Given the description of an element on the screen output the (x, y) to click on. 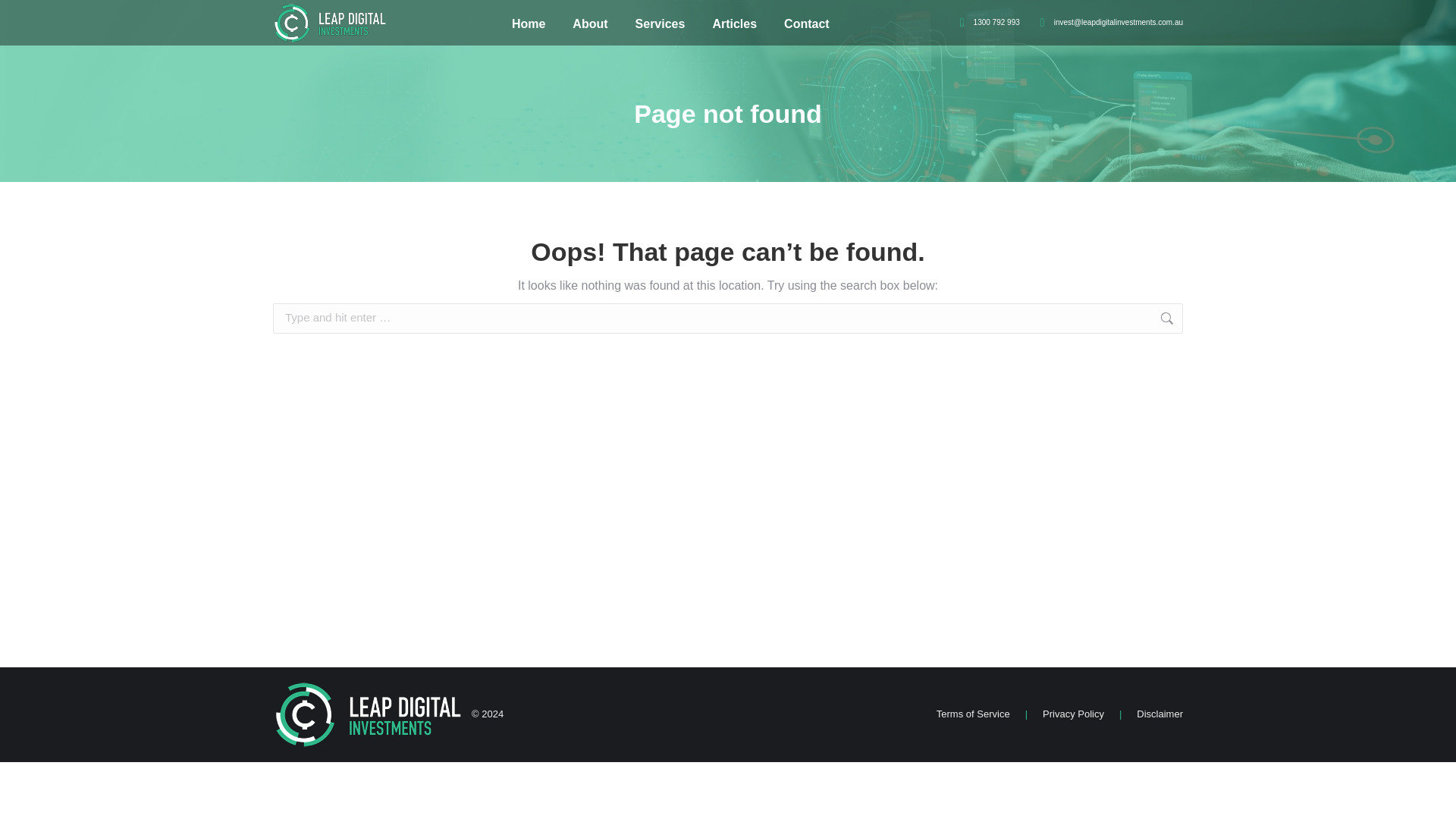
Go! (1206, 319)
Privacy Policy (1072, 713)
Disclaimer (1159, 713)
Articles (734, 24)
Go! (1206, 319)
Go! (1206, 319)
About (589, 24)
Terms of Service (973, 713)
Contact (806, 24)
Services (659, 24)
Home (528, 24)
